Given the description of an element on the screen output the (x, y) to click on. 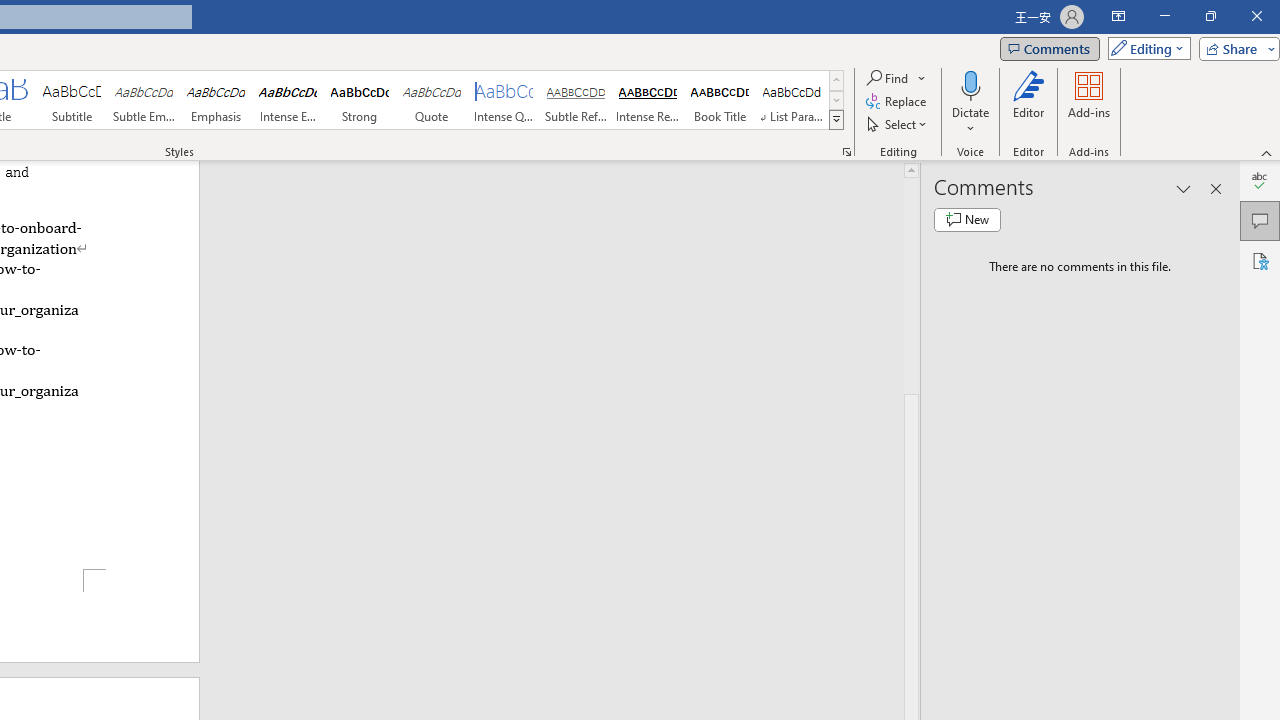
Subtle Reference (575, 100)
Book Title (719, 100)
New comment (967, 219)
Editing (1144, 47)
Intense Quote (504, 100)
Strong (359, 100)
Subtle Emphasis (143, 100)
